Given the description of an element on the screen output the (x, y) to click on. 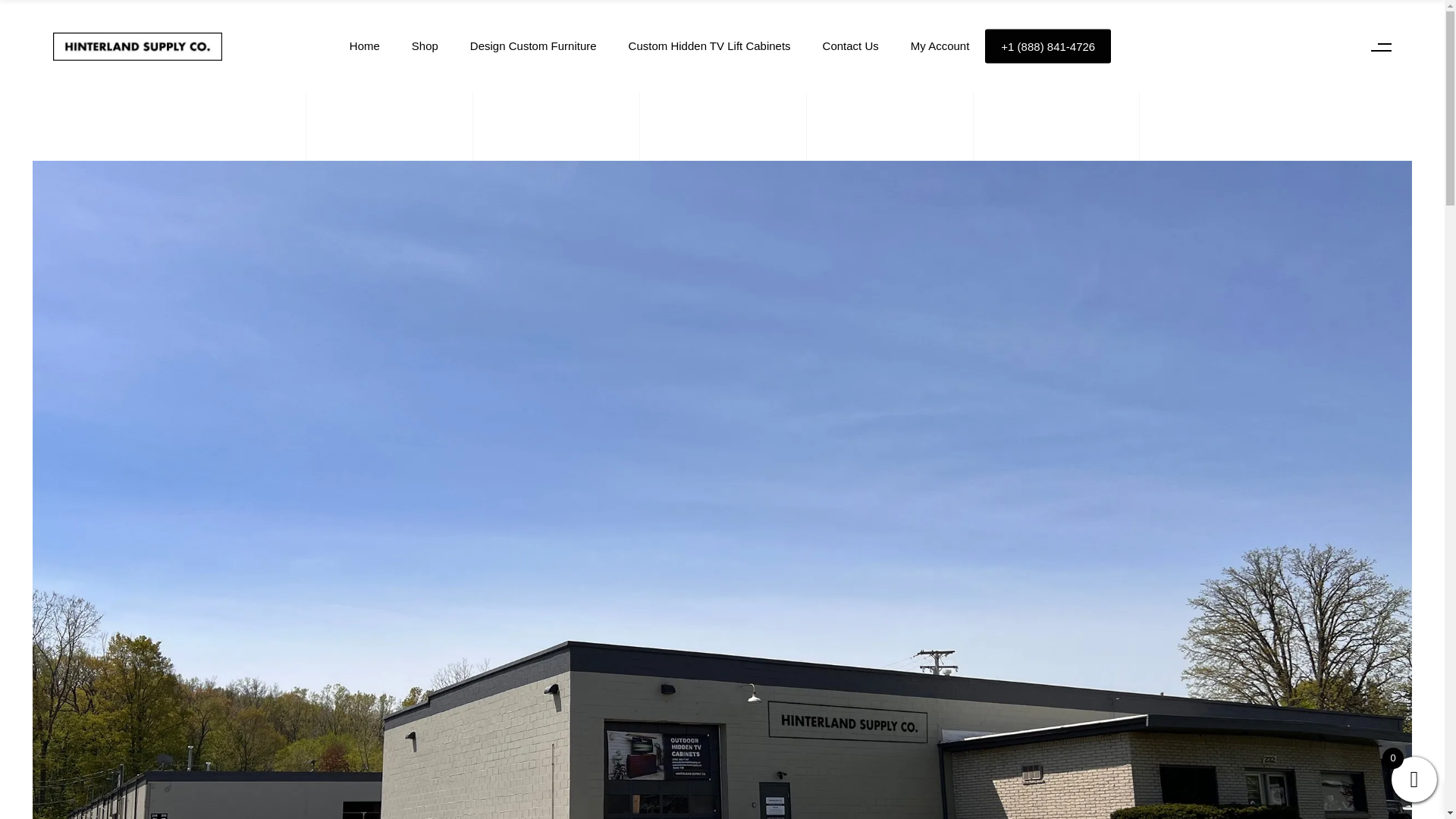
My Account (940, 46)
Custom Hidden TV Lift Cabinets (709, 46)
Contact Us (850, 46)
Shop (425, 46)
Design Custom Furniture (533, 46)
Home (364, 46)
Enter your email (1008, 397)
